Given the description of an element on the screen output the (x, y) to click on. 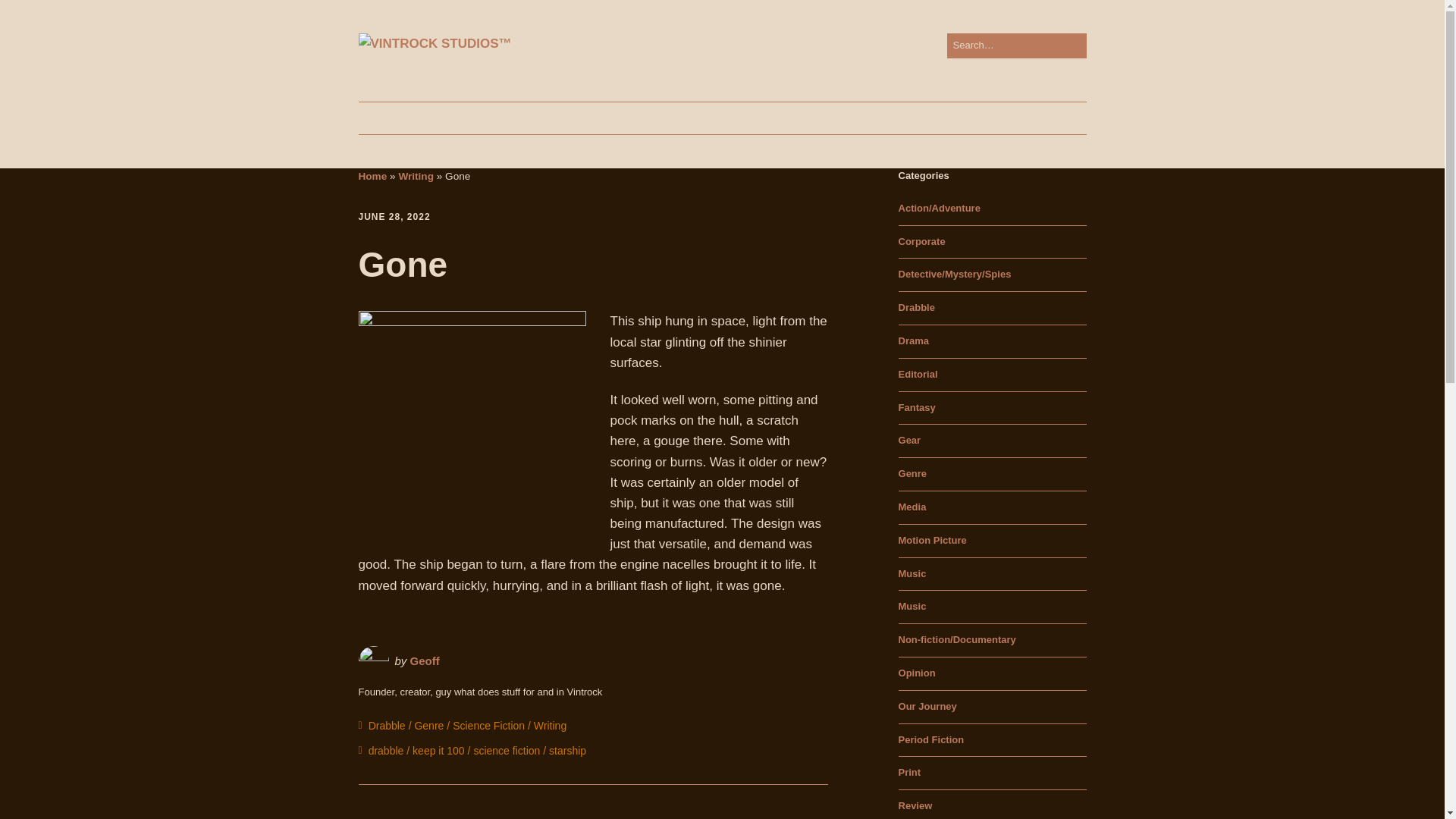
Music (912, 573)
Home (372, 175)
drabble (386, 750)
The Team (566, 118)
keep it 100 (438, 750)
Writing (550, 725)
About (440, 118)
Opinion (917, 672)
Genre (428, 725)
Motion Picture (932, 540)
Writing (415, 175)
Contact (761, 118)
Editorial (917, 374)
starship (567, 750)
Search (29, 15)
